Given the description of an element on the screen output the (x, y) to click on. 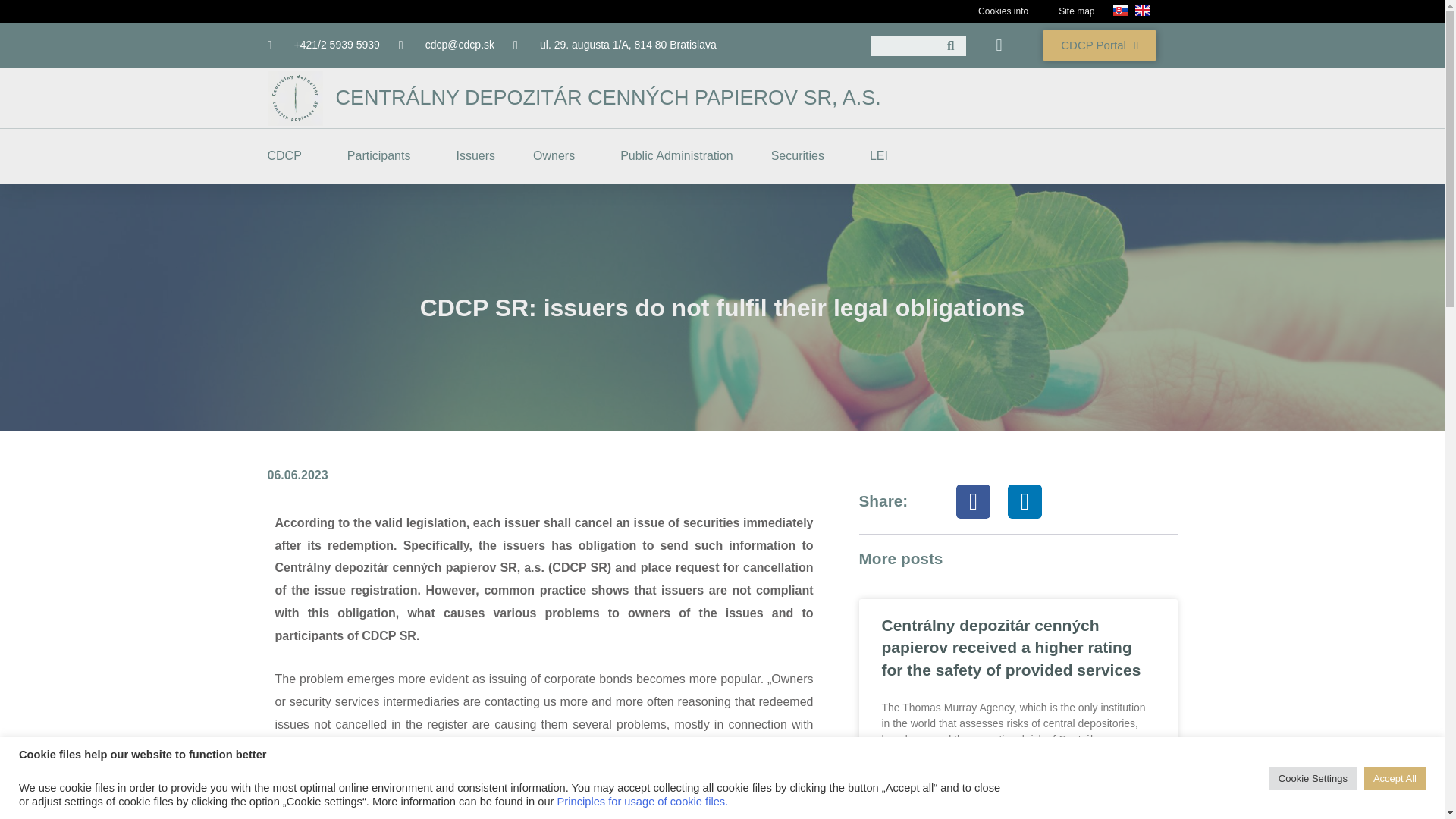
CDCP (287, 155)
Owners (557, 155)
Search (951, 45)
CDCP Portal (1099, 45)
Public Administration (676, 155)
Issuers (475, 155)
Participants (383, 155)
Securities (801, 155)
Site map (1076, 12)
Cookies info (1002, 12)
